Given the description of an element on the screen output the (x, y) to click on. 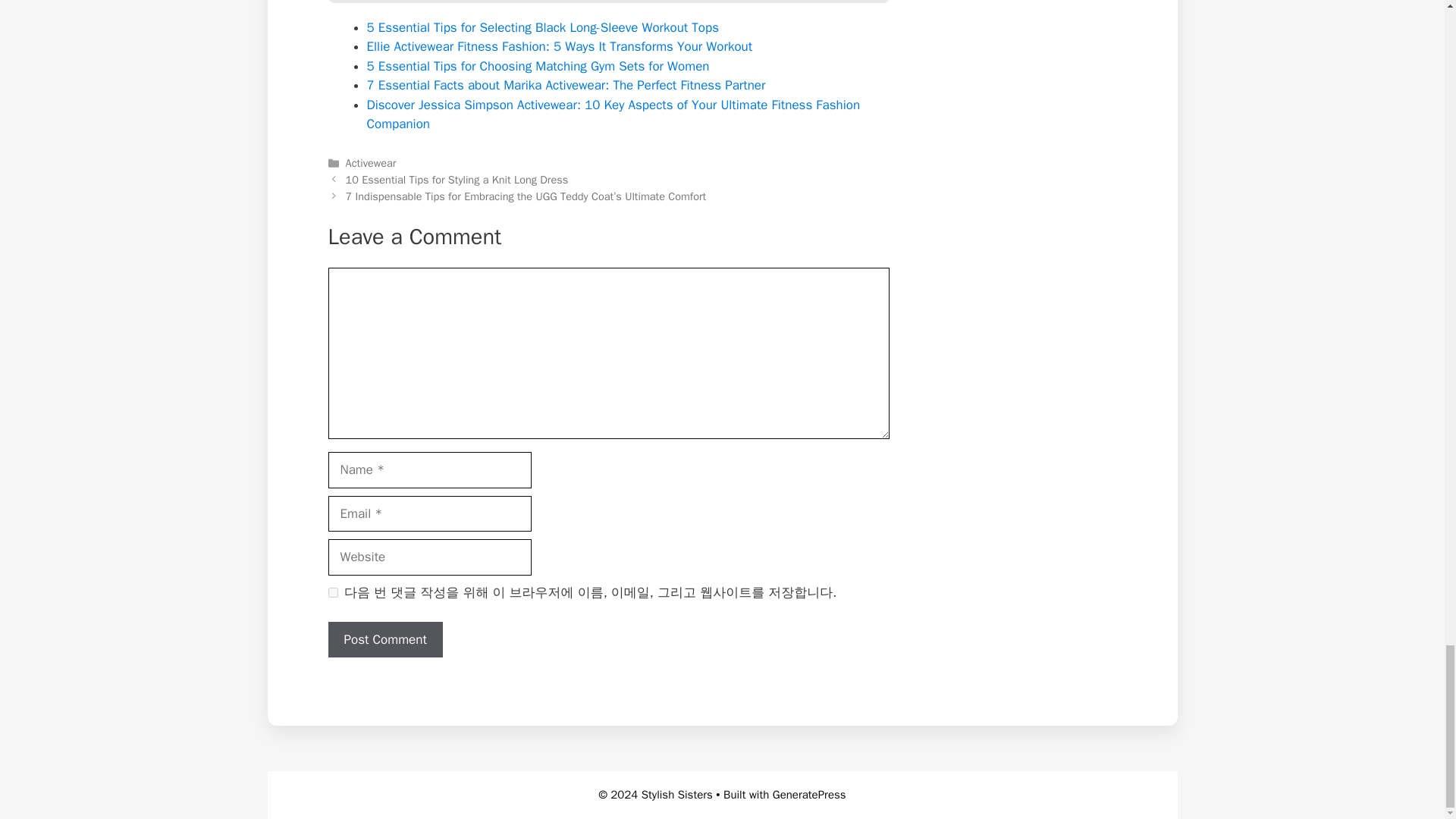
5 Essential Tips for Choosing Matching Gym Sets for Women (538, 65)
yes (332, 592)
Activewear (371, 162)
10 Essential Tips for Styling a Knit Long Dress (457, 179)
Post Comment (384, 639)
Post Comment (384, 639)
